Given the description of an element on the screen output the (x, y) to click on. 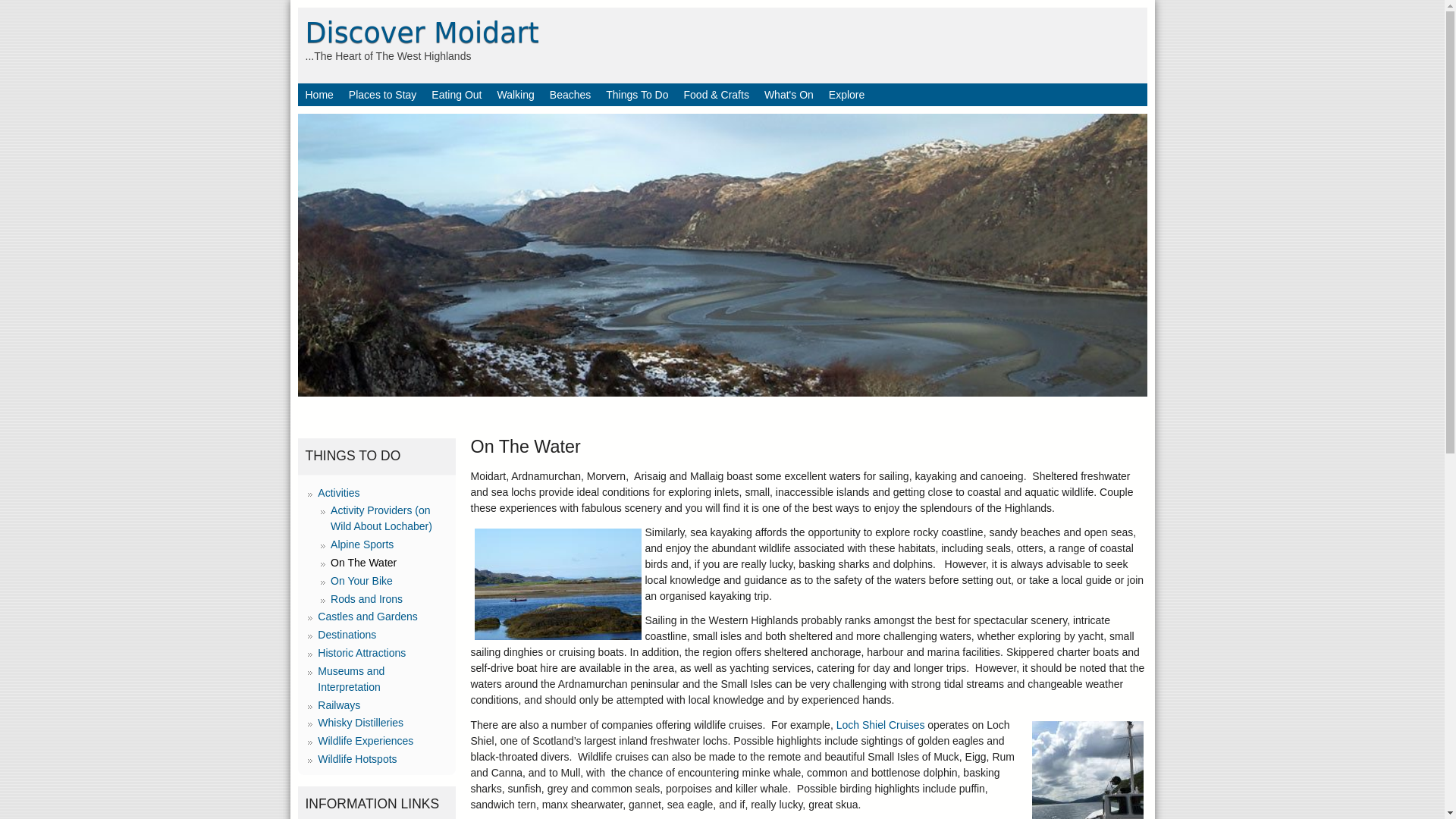
Beaches (569, 94)
Explore (846, 94)
Walking (515, 94)
Information about Moidart, Ardnamurchan and the Rough Bounds (318, 94)
What's On (789, 94)
Things To Do (636, 94)
Home page (421, 32)
Places to Stay (382, 94)
Discover Moidart (421, 32)
Home (318, 94)
Eating Out (456, 94)
